Given the description of an element on the screen output the (x, y) to click on. 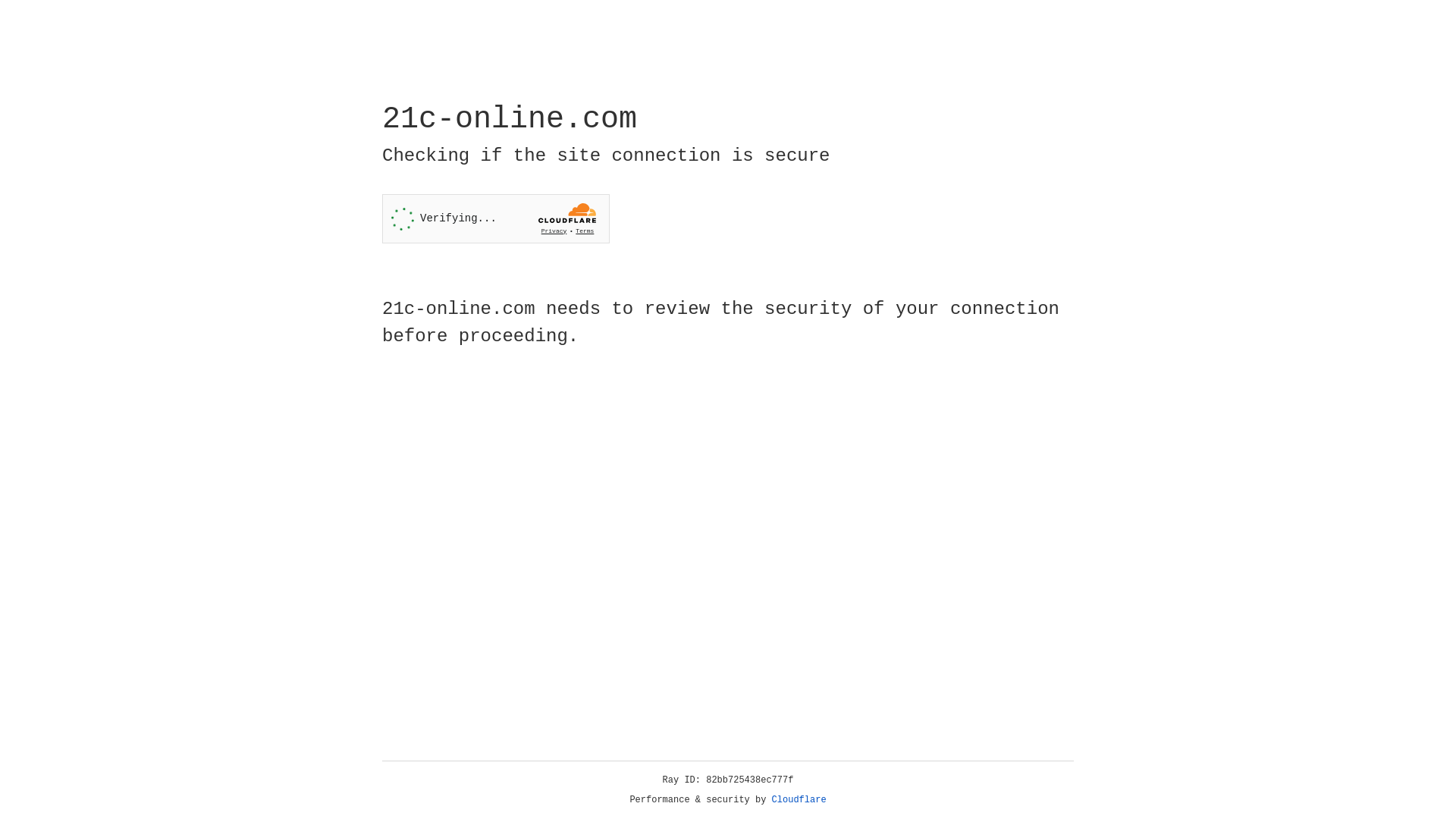
Widget containing a Cloudflare security challenge Element type: hover (495, 218)
Cloudflare Element type: text (798, 799)
